Given the description of an element on the screen output the (x, y) to click on. 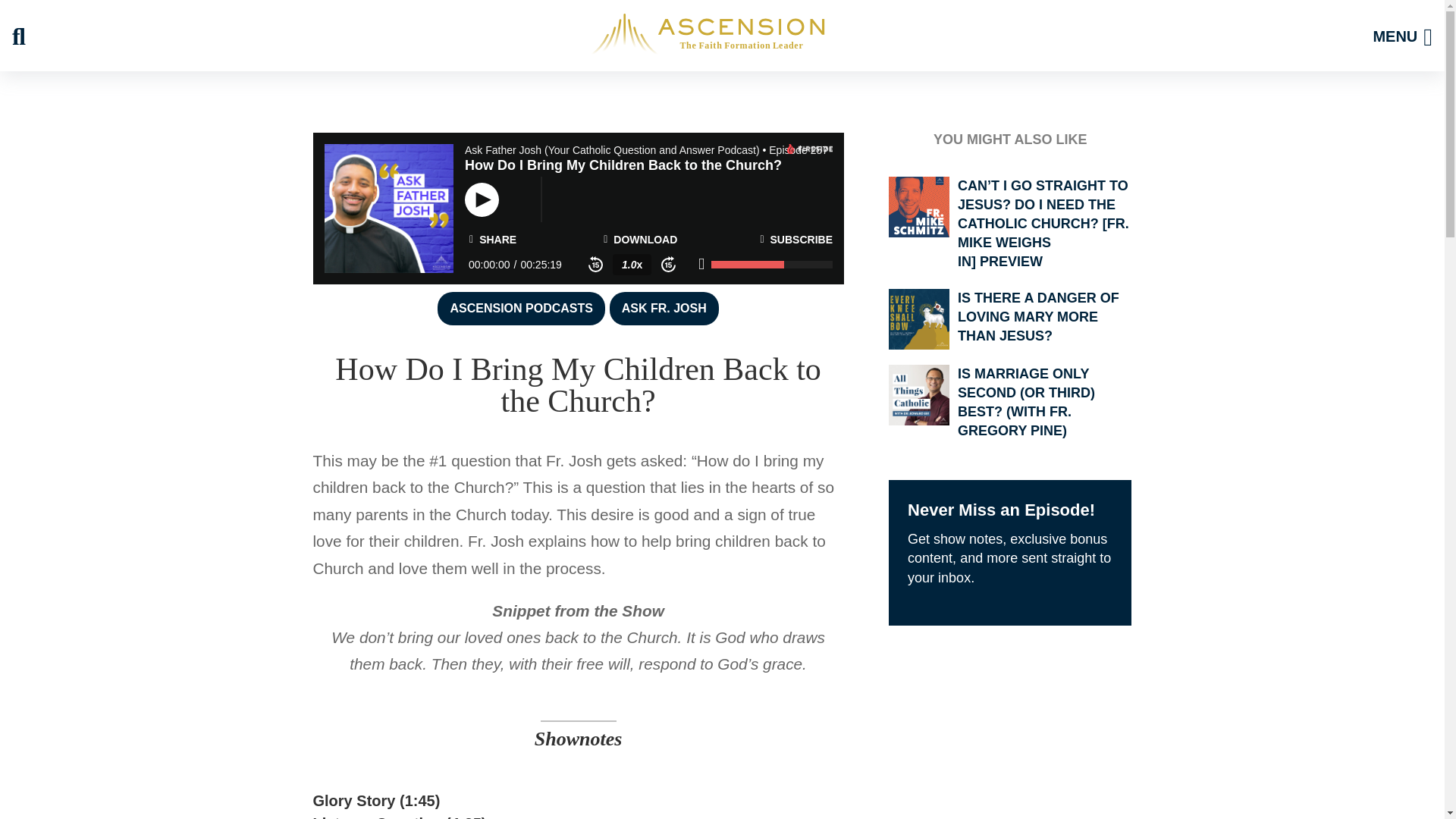
ASK FR. JOSH (664, 307)
ASCENSION PODCASTS (521, 307)
